Given the description of an element on the screen output the (x, y) to click on. 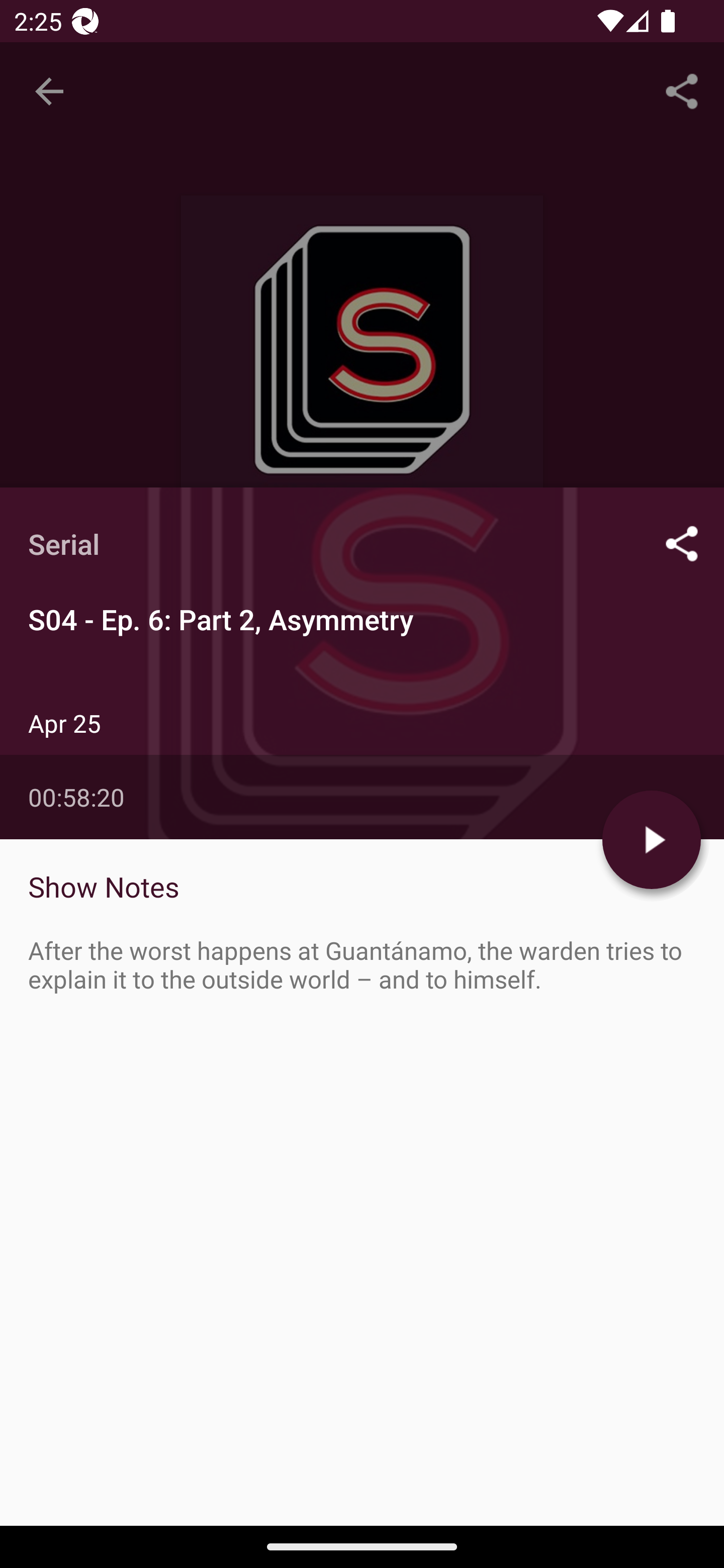
Apr 25 S04 - Ep. 6: Part 2, Asymmetry (362, 867)
Apr 18 S04 - Ep. 5: The Big Chicken, Part 1 (362, 985)
